Given the description of an element on the screen output the (x, y) to click on. 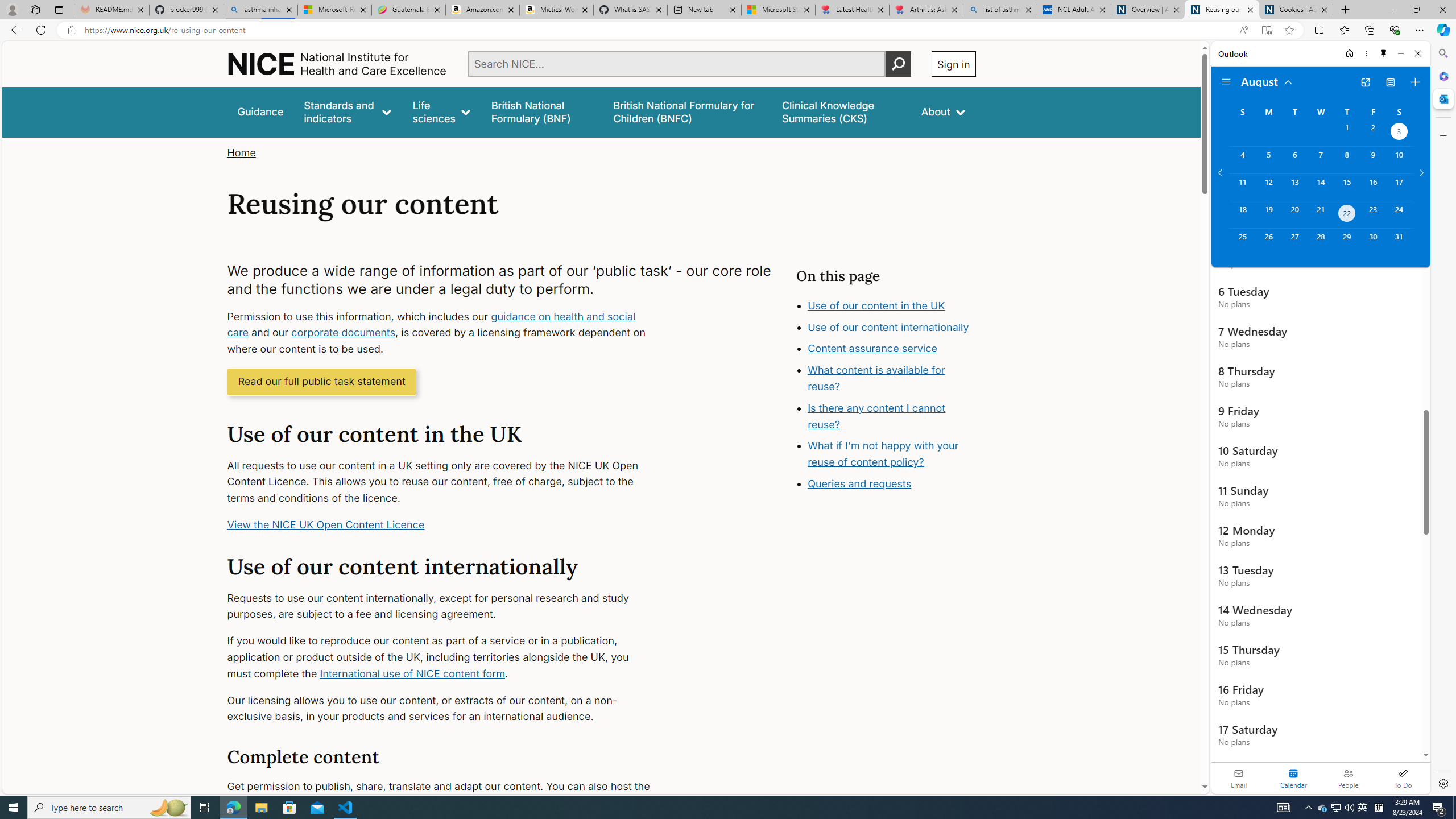
Thursday, August 29, 2024.  (1346, 241)
International use of NICE content form (412, 673)
Friday, August 9, 2024.  (1372, 159)
Friday, August 23, 2024.  (1372, 214)
Content assurance service (872, 348)
Sunday, August 25, 2024.  (1242, 241)
Cookies | About | NICE (1295, 9)
August (1267, 80)
